Given the description of an element on the screen output the (x, y) to click on. 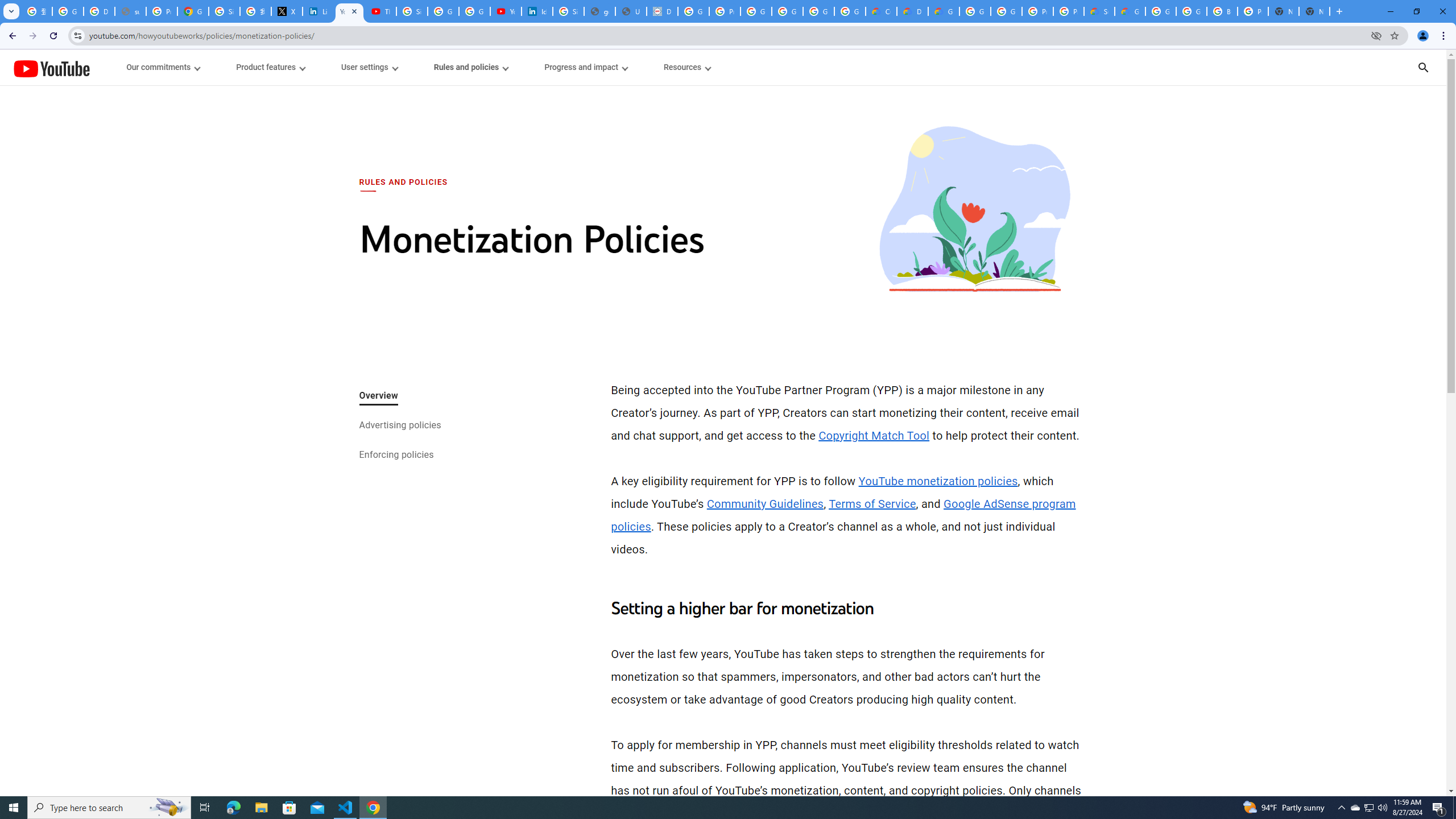
YouTube (51, 68)
Sign in - Google Accounts (223, 11)
YouTube Content Monetization Policies - How YouTube Works (349, 11)
Google Cloud Platform (974, 11)
Customer Care | Google Cloud (881, 11)
X (286, 11)
